Given the description of an element on the screen output the (x, y) to click on. 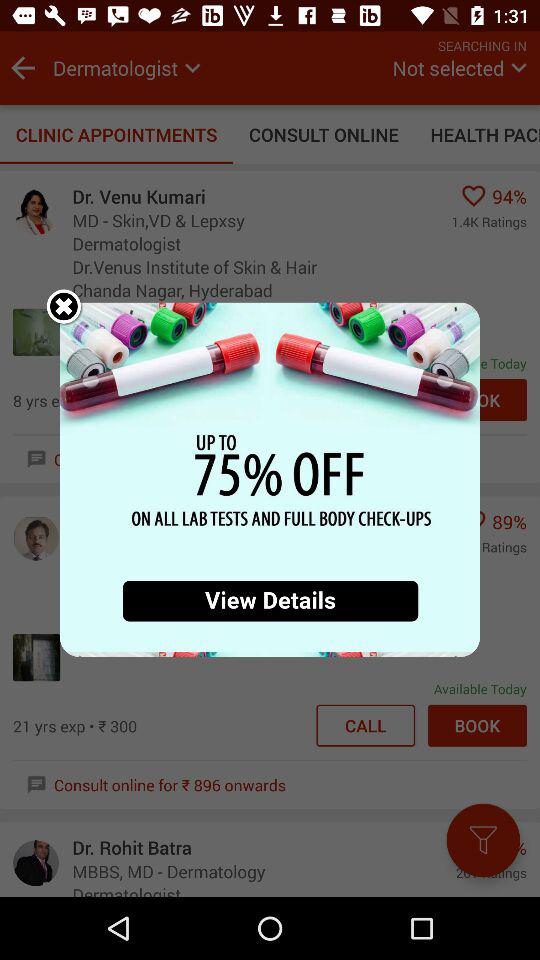
screen page (270, 479)
